Given the description of an element on the screen output the (x, y) to click on. 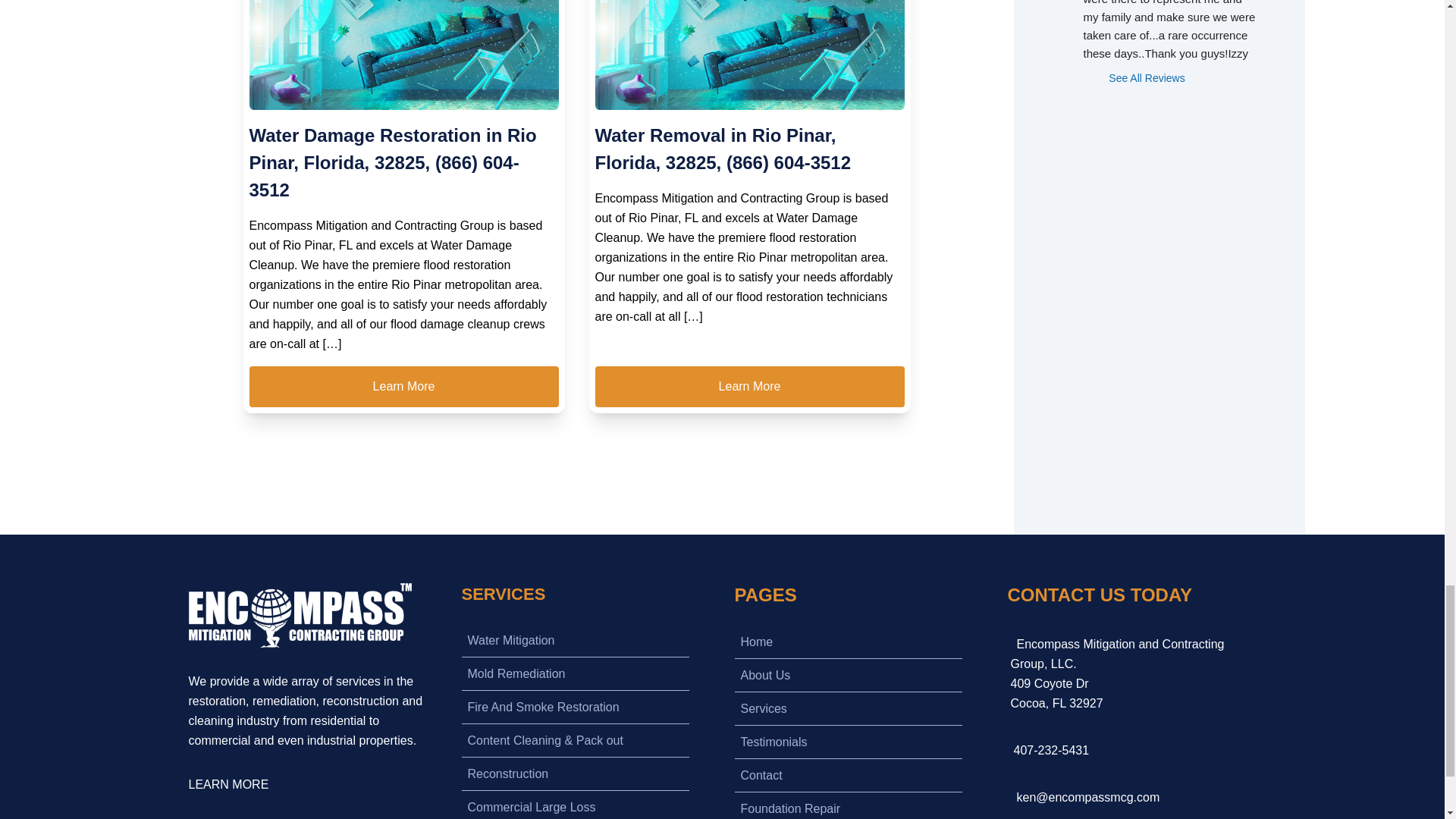
Learn More (402, 386)
Learn More (749, 386)
